Given the description of an element on the screen output the (x, y) to click on. 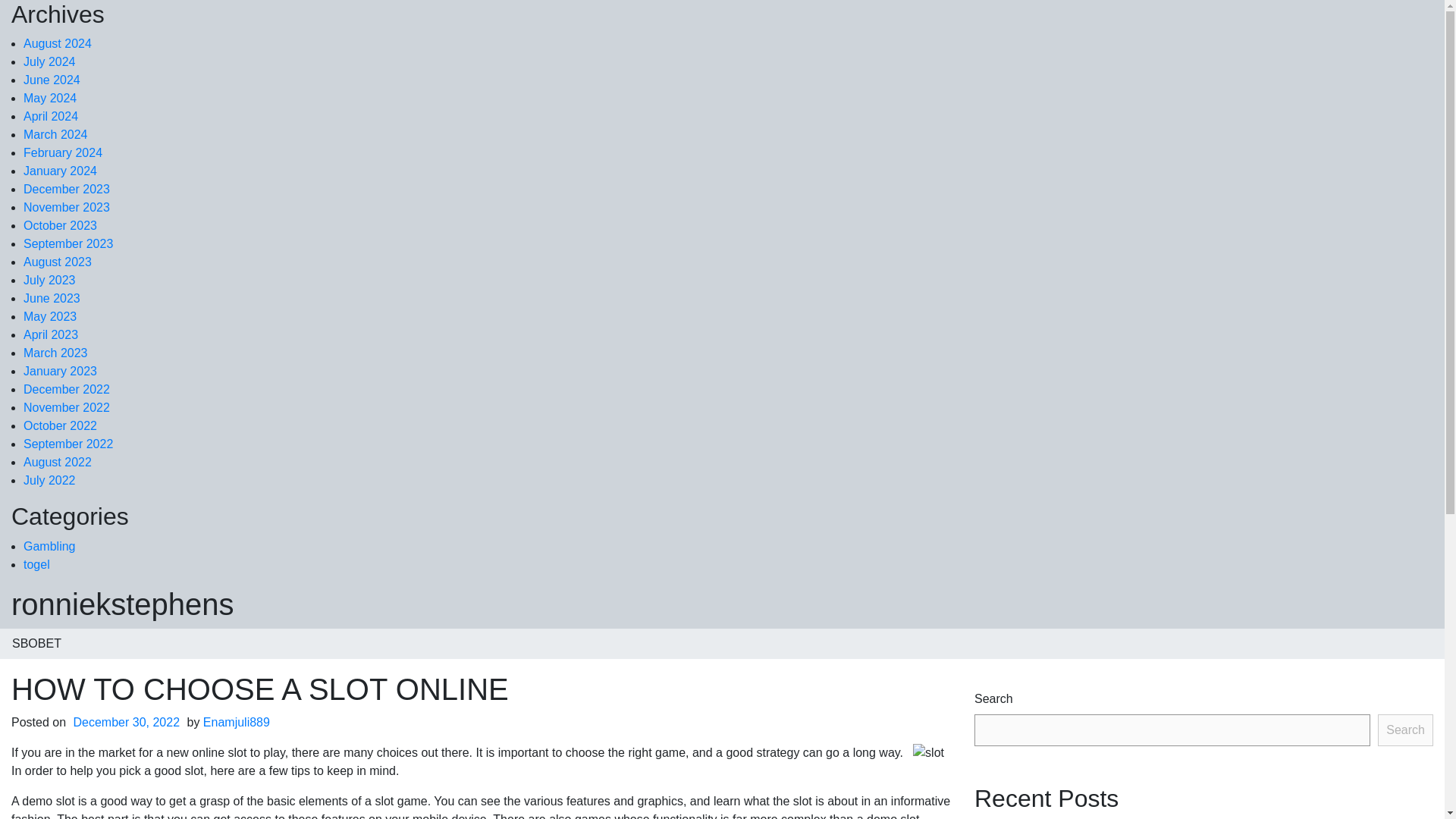
September 2022 (68, 443)
November 2022 (66, 407)
May 2024 (50, 97)
August 2023 (57, 261)
December 30, 2022 (126, 721)
Enamjuli889 (236, 721)
October 2023 (60, 225)
May 2023 (50, 316)
July 2023 (49, 279)
January 2024 (60, 170)
